Given the description of an element on the screen output the (x, y) to click on. 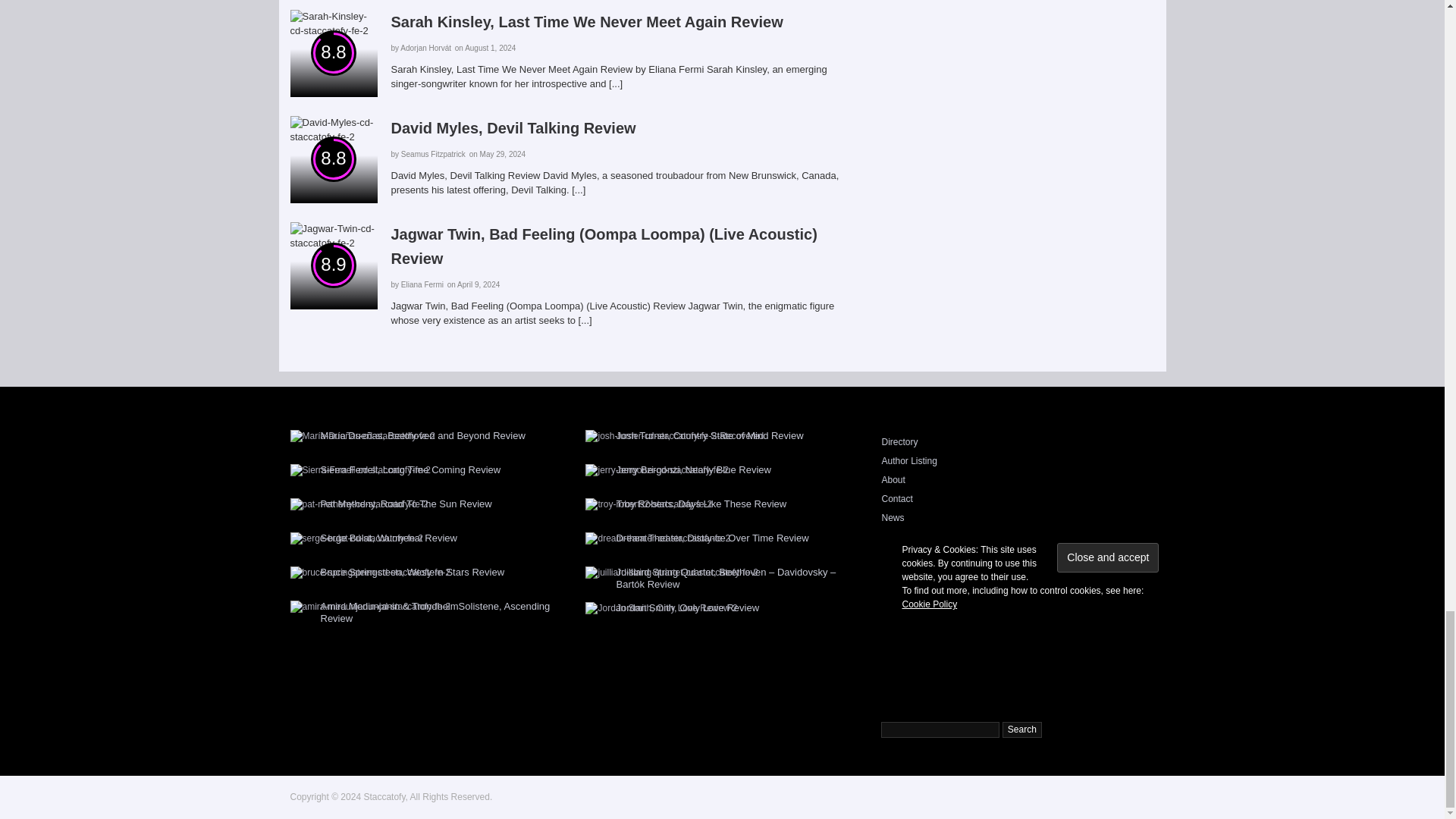
Search (1022, 729)
Close and accept (1107, 557)
